Given the description of an element on the screen output the (x, y) to click on. 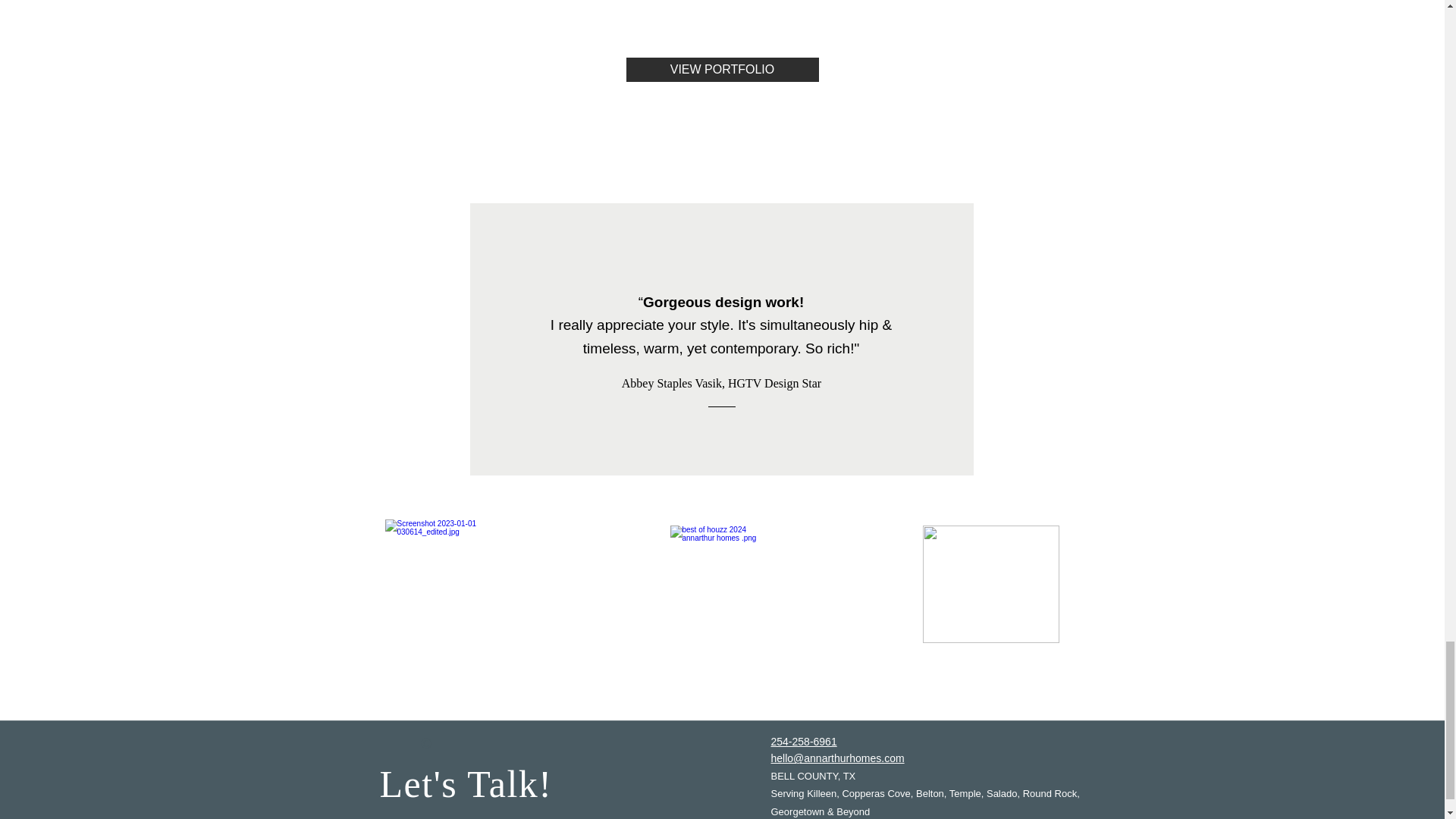
VIEW PORTFOLIO (722, 69)
254-258-6961 (802, 741)
